Given the description of an element on the screen output the (x, y) to click on. 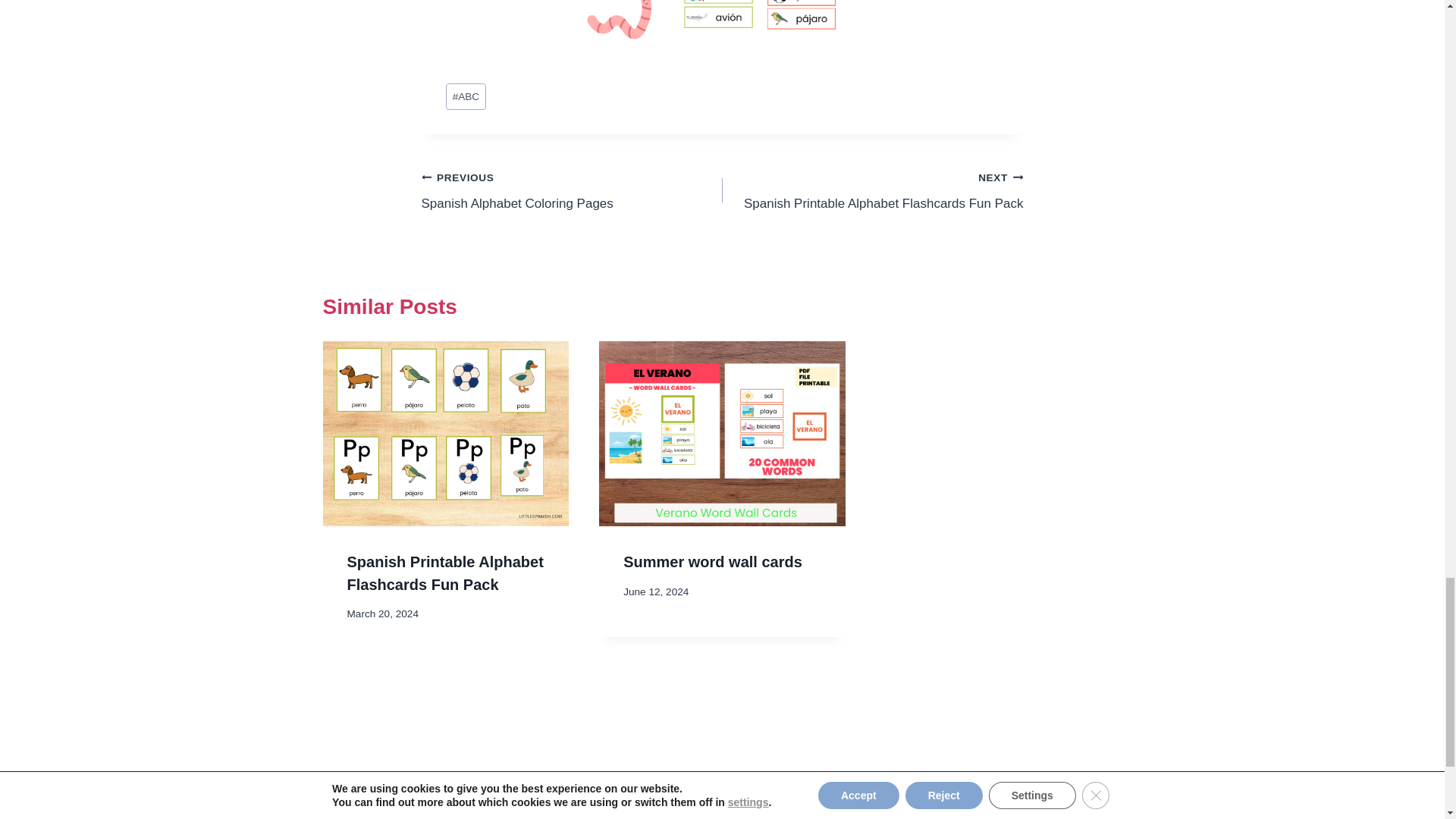
Summer word wall cards (712, 561)
Spanish Printable Alphabet Flashcards Fun Pack (872, 190)
ABC (572, 190)
